Given the description of an element on the screen output the (x, y) to click on. 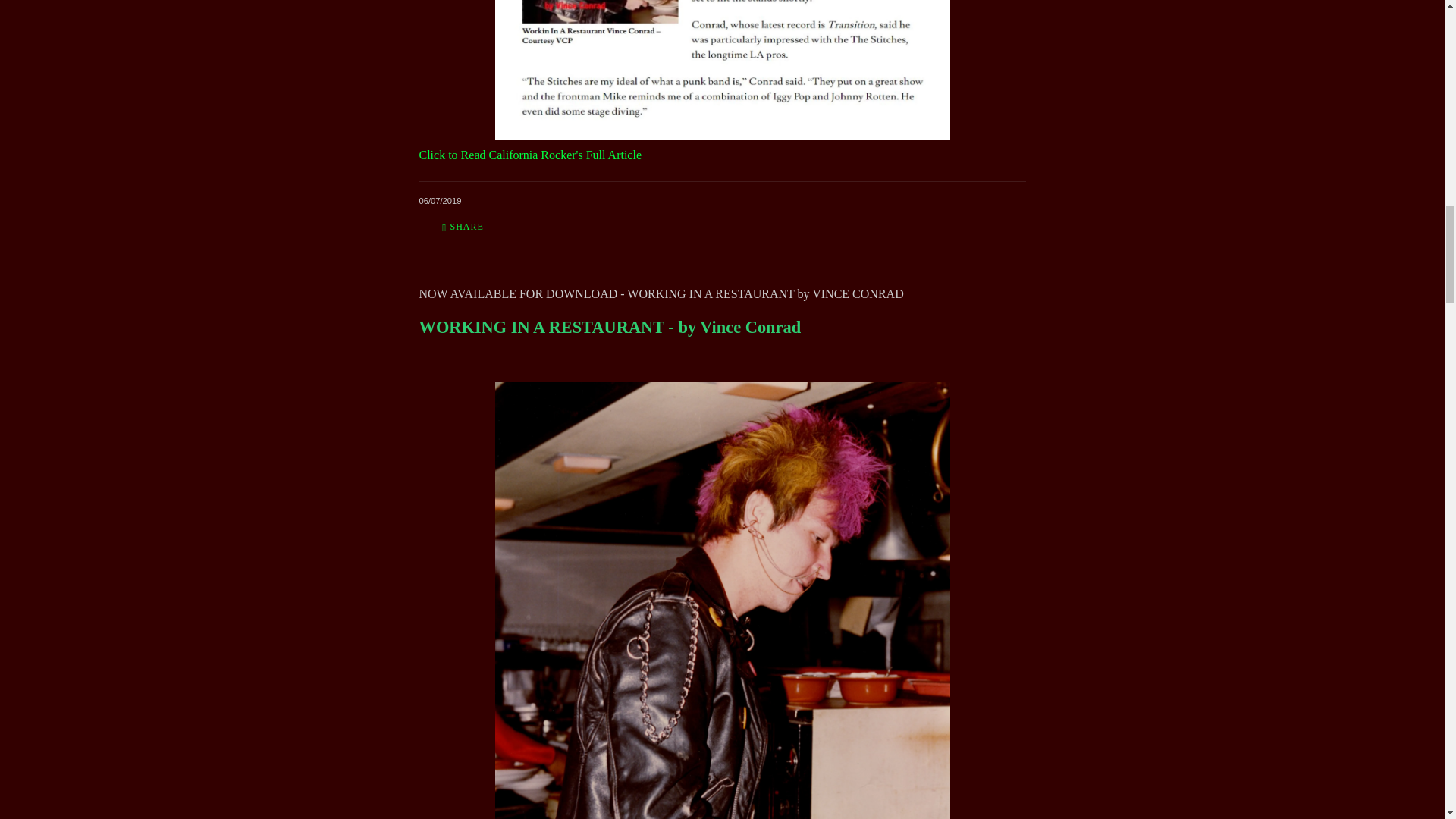
Click to Read California Rocker's Full Article (530, 154)
Share CALIFORNIA ROCKER Catches Up With VINCE CONRAD (462, 226)
SHARE (462, 226)
June 07, 2019 15:37 (440, 200)
